Given the description of an element on the screen output the (x, y) to click on. 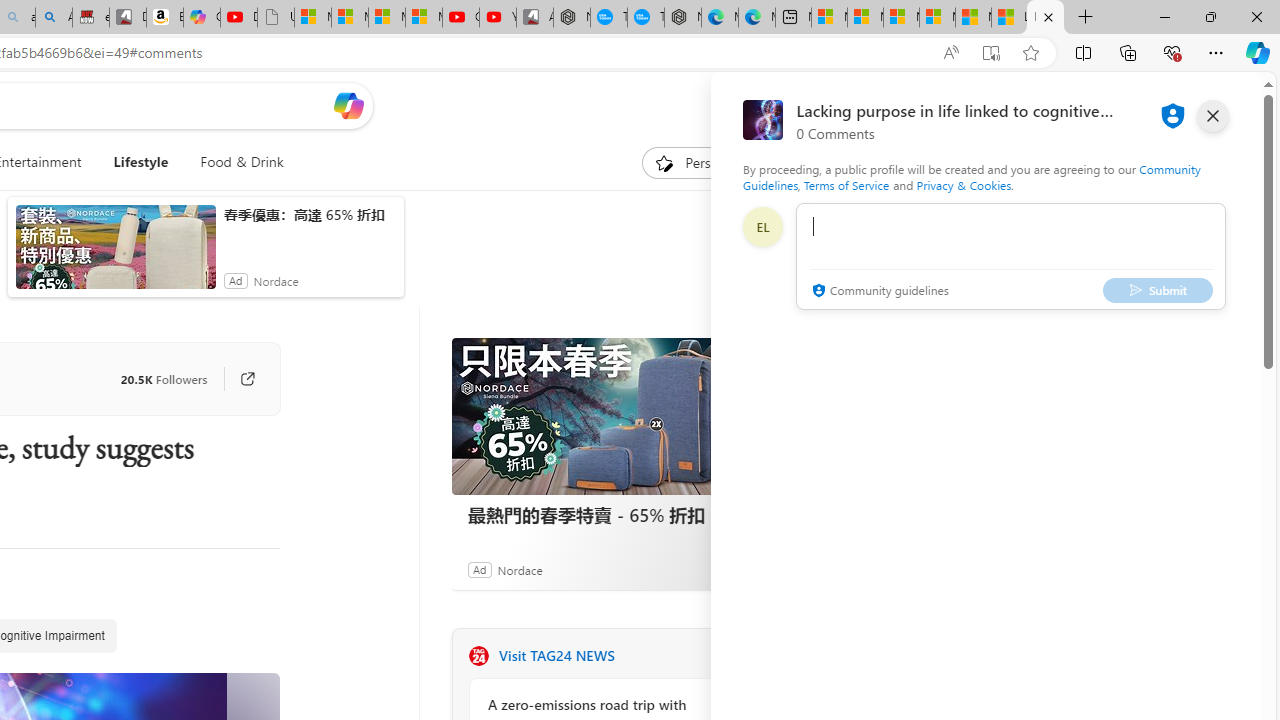
Day 1: Arriving in Yemen (surreal to be here) - YouTube (239, 17)
Gloom - YouTube (460, 17)
Food & Drink (234, 162)
Privacy & Cookies (964, 184)
Lifestyle (140, 162)
Enter Immersive Reader (F9) (991, 53)
Microsoft rewards (1137, 105)
Nordace - My Account (572, 17)
Terms of Service (846, 184)
